Given the description of an element on the screen output the (x, y) to click on. 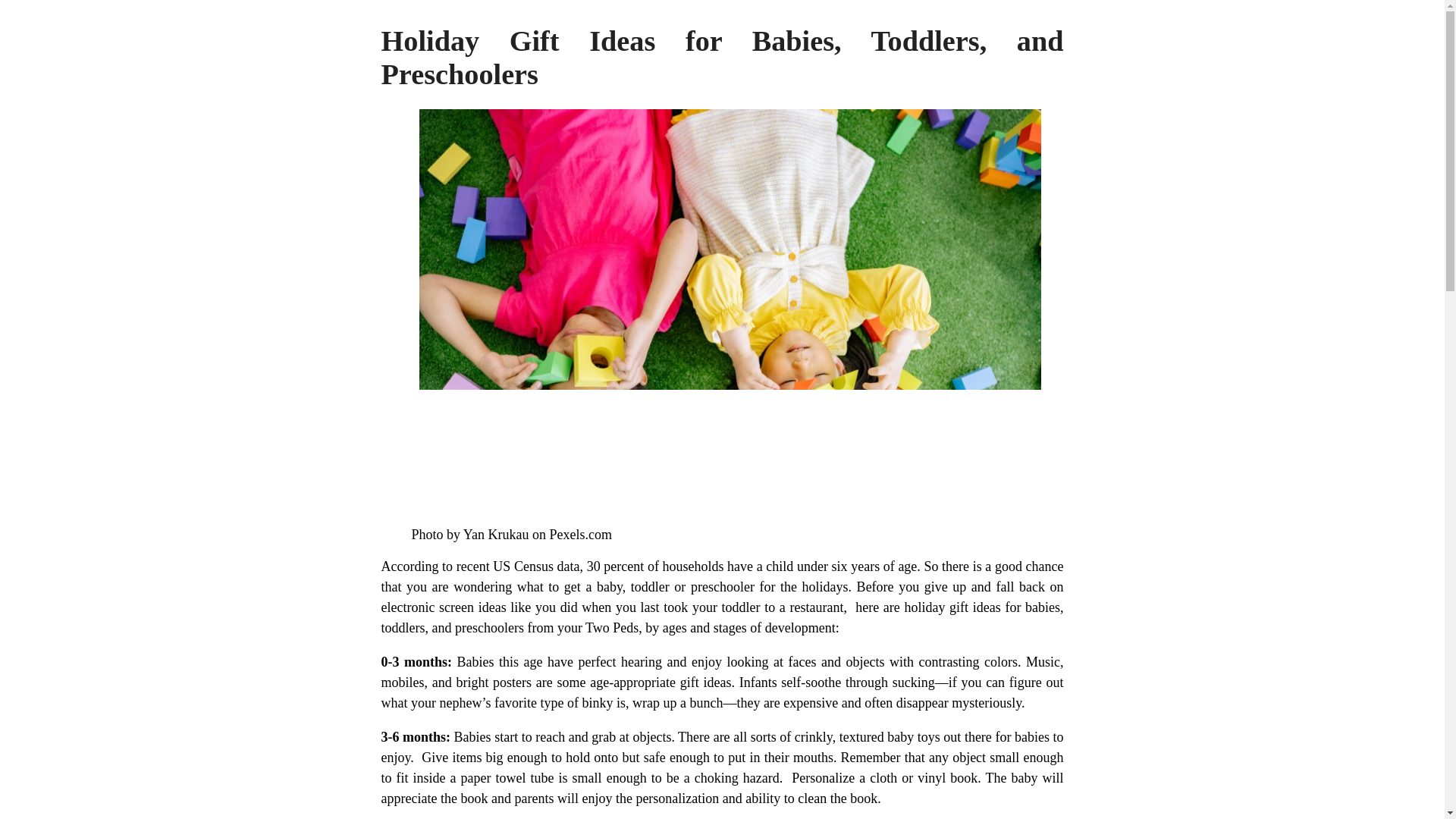
US Census data (536, 566)
when you last took your toddler to a restaurant (711, 607)
Pexels.com (581, 534)
